Given the description of an element on the screen output the (x, y) to click on. 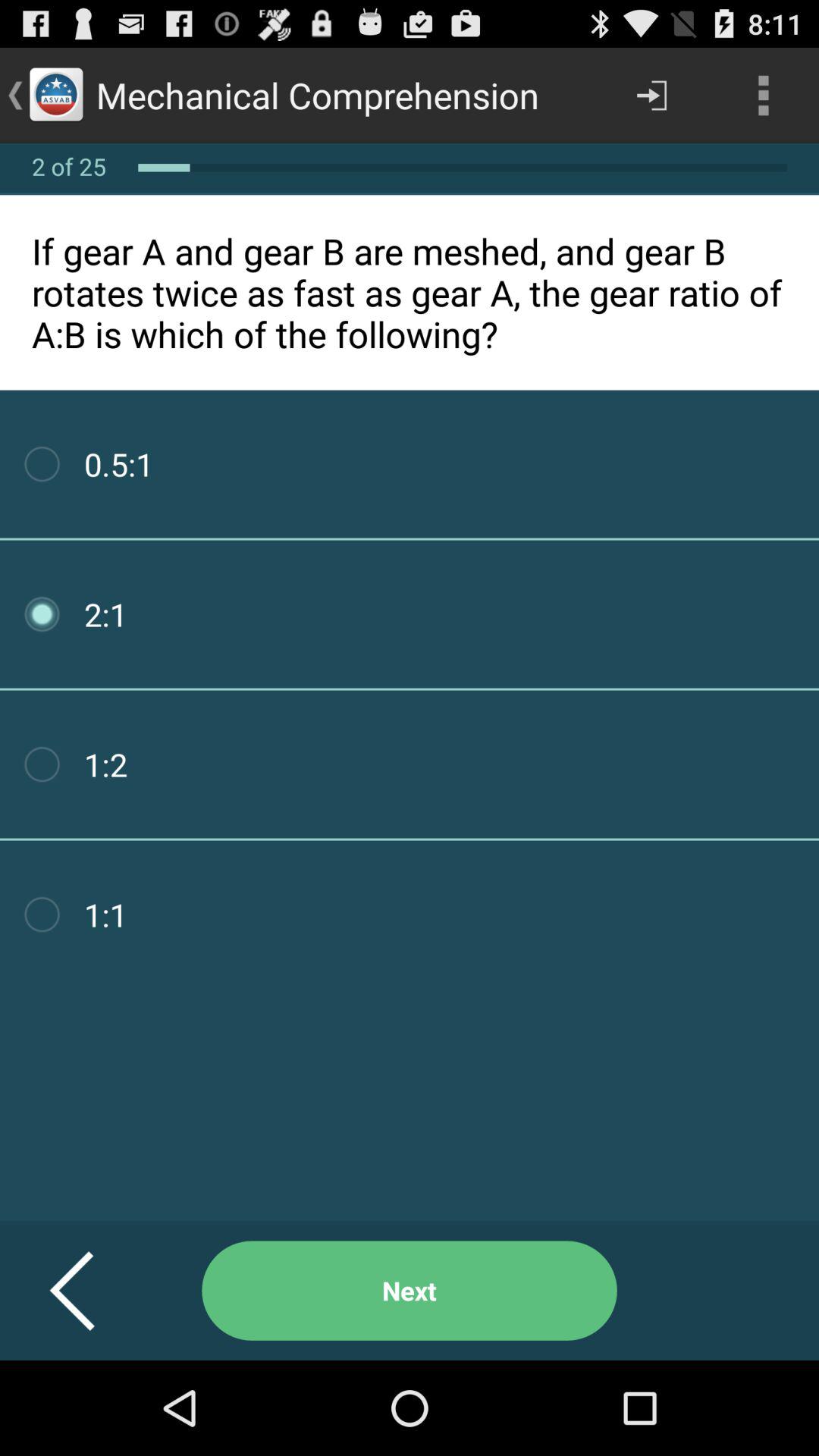
tap button to the left of next (91, 1290)
